Given the description of an element on the screen output the (x, y) to click on. 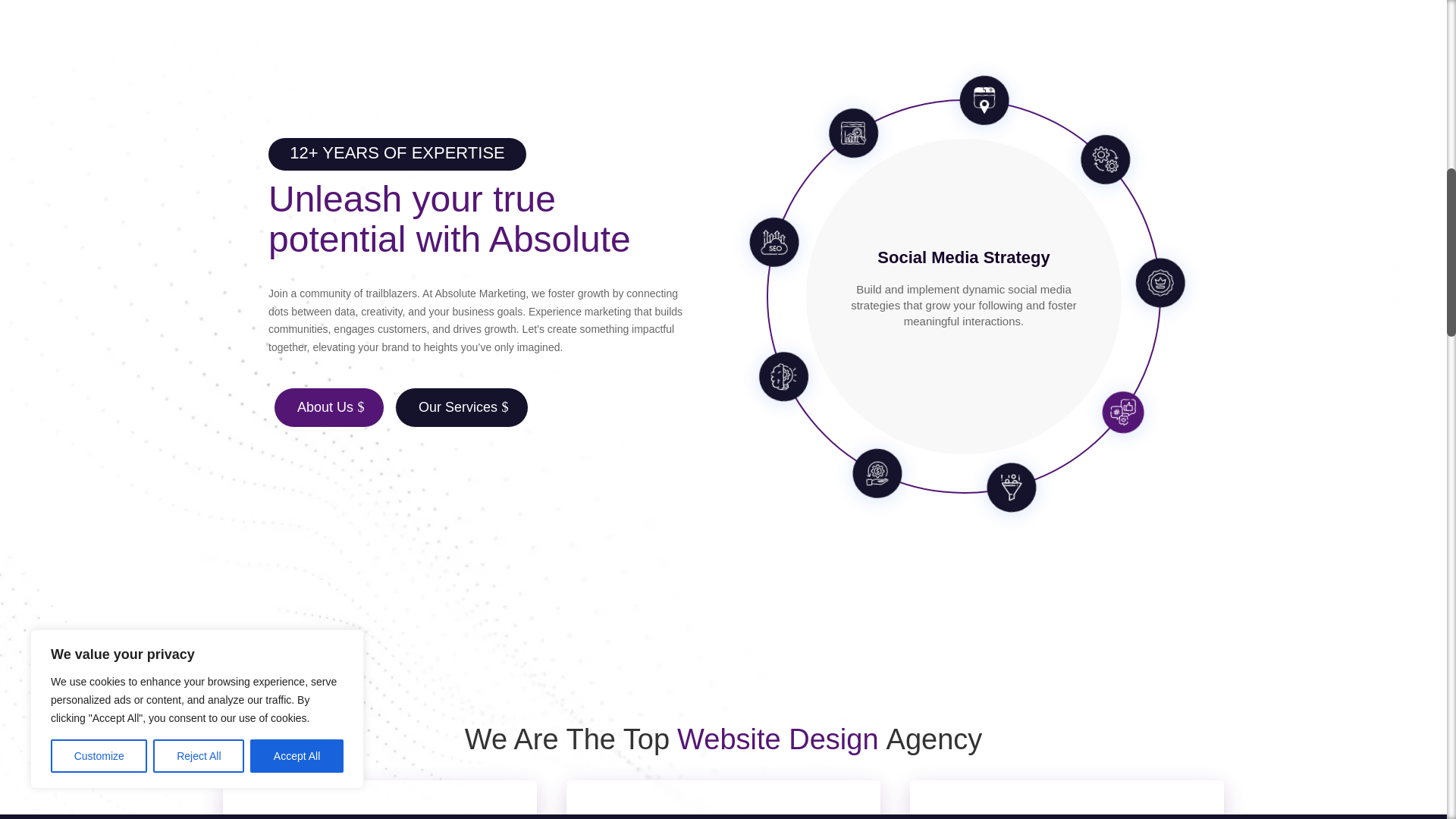
About Us (328, 407)
Our Services (461, 407)
